Given the description of an element on the screen output the (x, y) to click on. 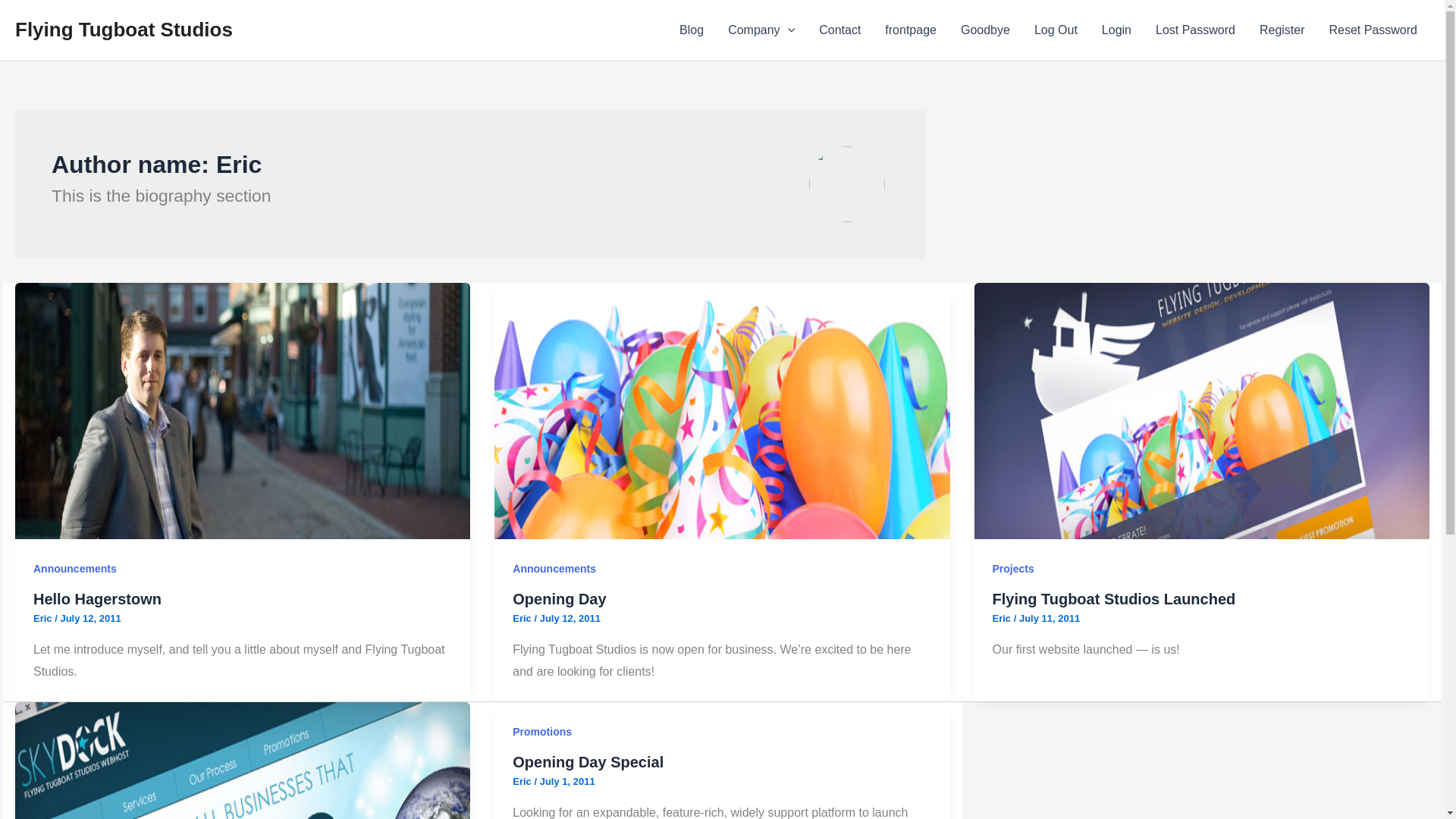
Login (1115, 30)
Eric (44, 618)
Company (761, 30)
Hello Hagerstown (97, 598)
Projects (1012, 568)
Flying Tugboat Studios (123, 29)
Log Out (1055, 30)
Blog (691, 30)
View all posts by Eric (523, 781)
Reset Password (1372, 30)
View all posts by Eric (523, 618)
Eric (523, 618)
Announcements (553, 568)
Opening Day (558, 598)
Contact (839, 30)
